Given the description of an element on the screen output the (x, y) to click on. 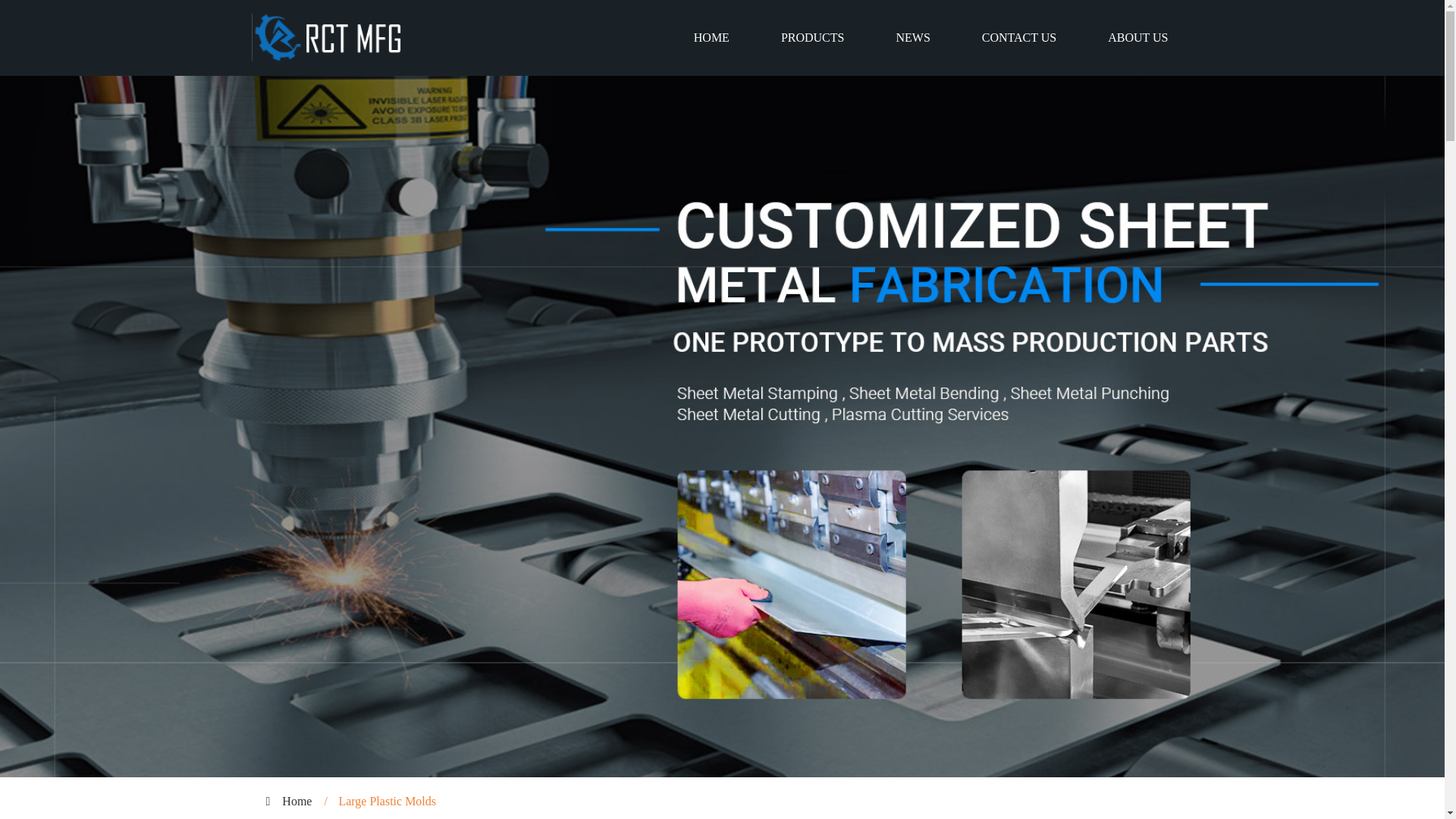
PRODUCTS (812, 38)
CONTACT US (1018, 38)
Home (296, 800)
